Given the description of an element on the screen output the (x, y) to click on. 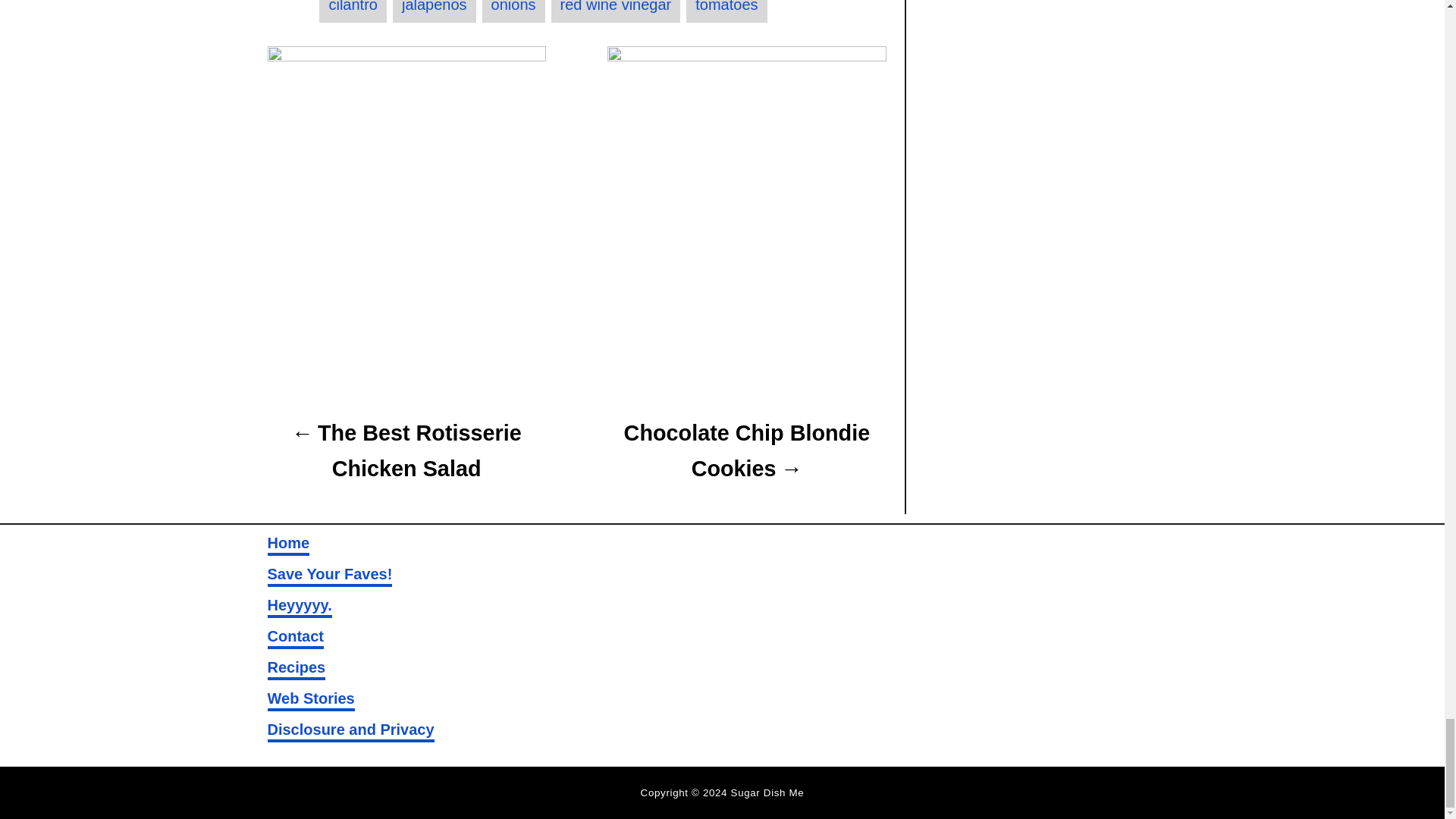
Home (287, 544)
tomatoes (726, 11)
cilantro (351, 11)
Chocolate Chip Blondie Cookies (746, 450)
red wine vinegar (616, 11)
The Best Rotisserie Chicken Salad (405, 450)
jalapenos (434, 11)
onions (512, 11)
